Given the description of an element on the screen output the (x, y) to click on. 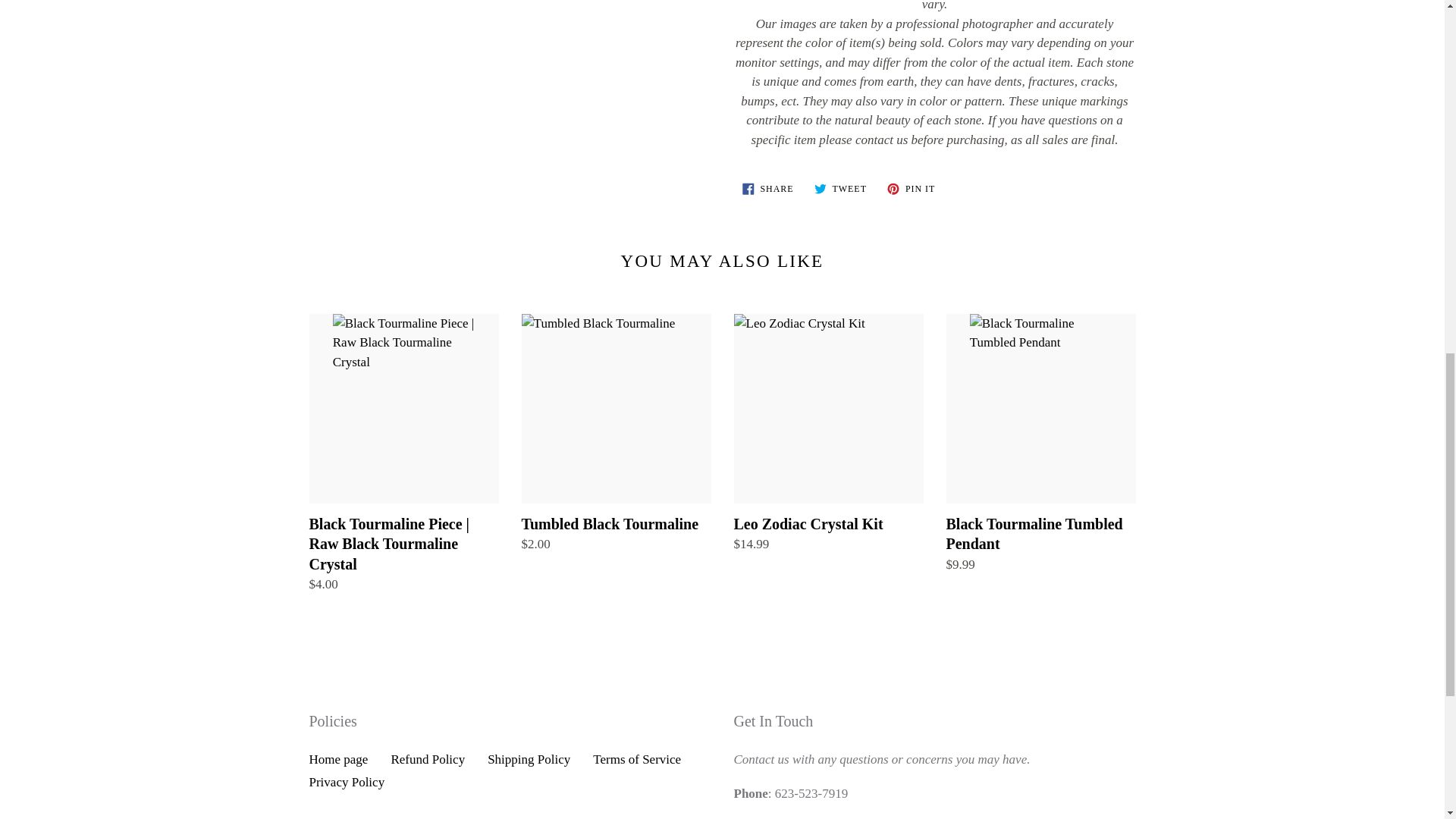
Home page (911, 188)
Refund Policy (338, 759)
Shipping Policy (427, 759)
